Given the description of an element on the screen output the (x, y) to click on. 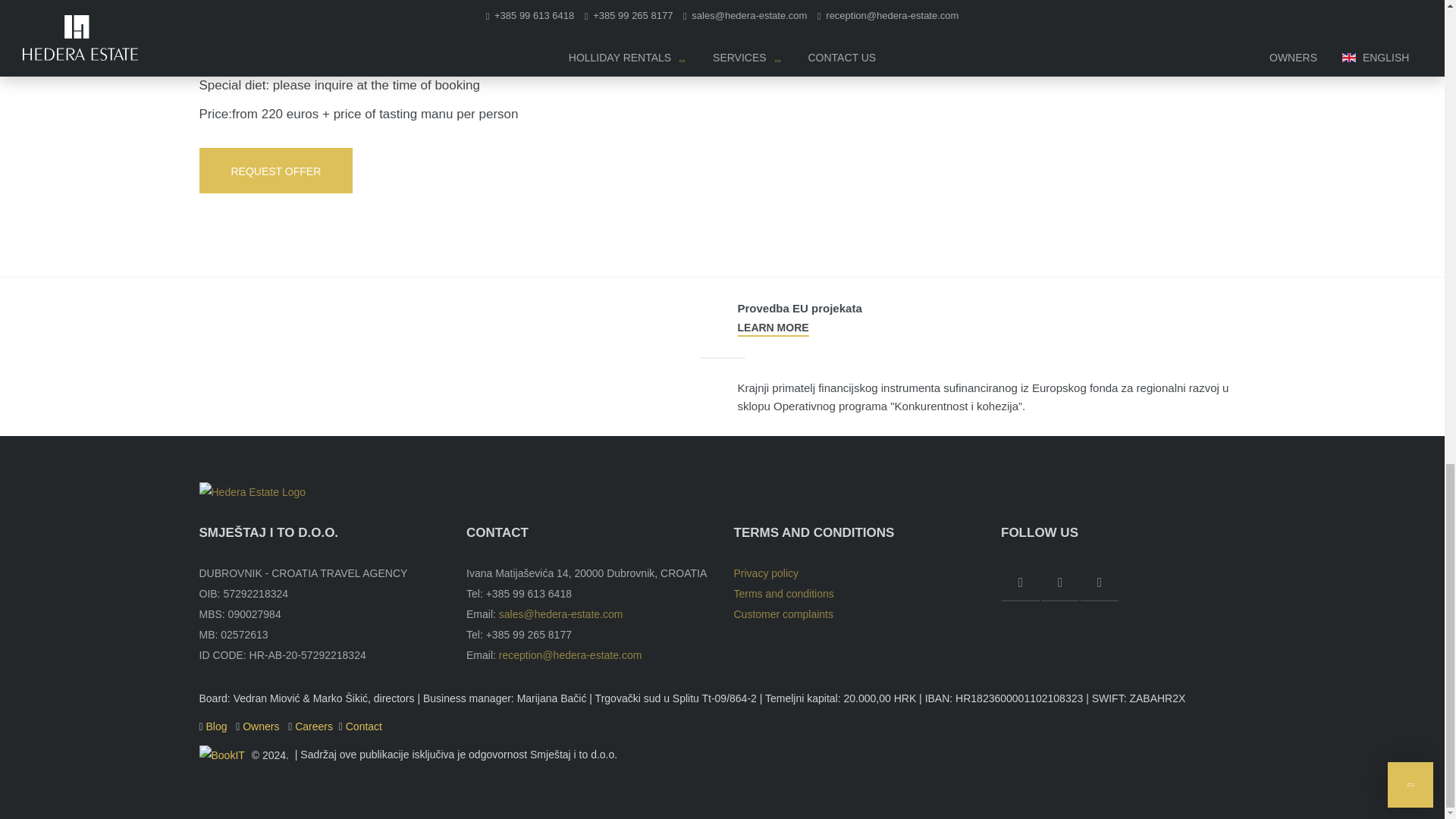
Contact (363, 726)
LEARN MORE (772, 327)
Terms and conditions (783, 593)
Privacy policy (766, 573)
Owners (262, 726)
Careers (314, 726)
Blog (218, 726)
REQUEST OFFER (275, 170)
Customer complaints (783, 613)
